Given the description of an element on the screen output the (x, y) to click on. 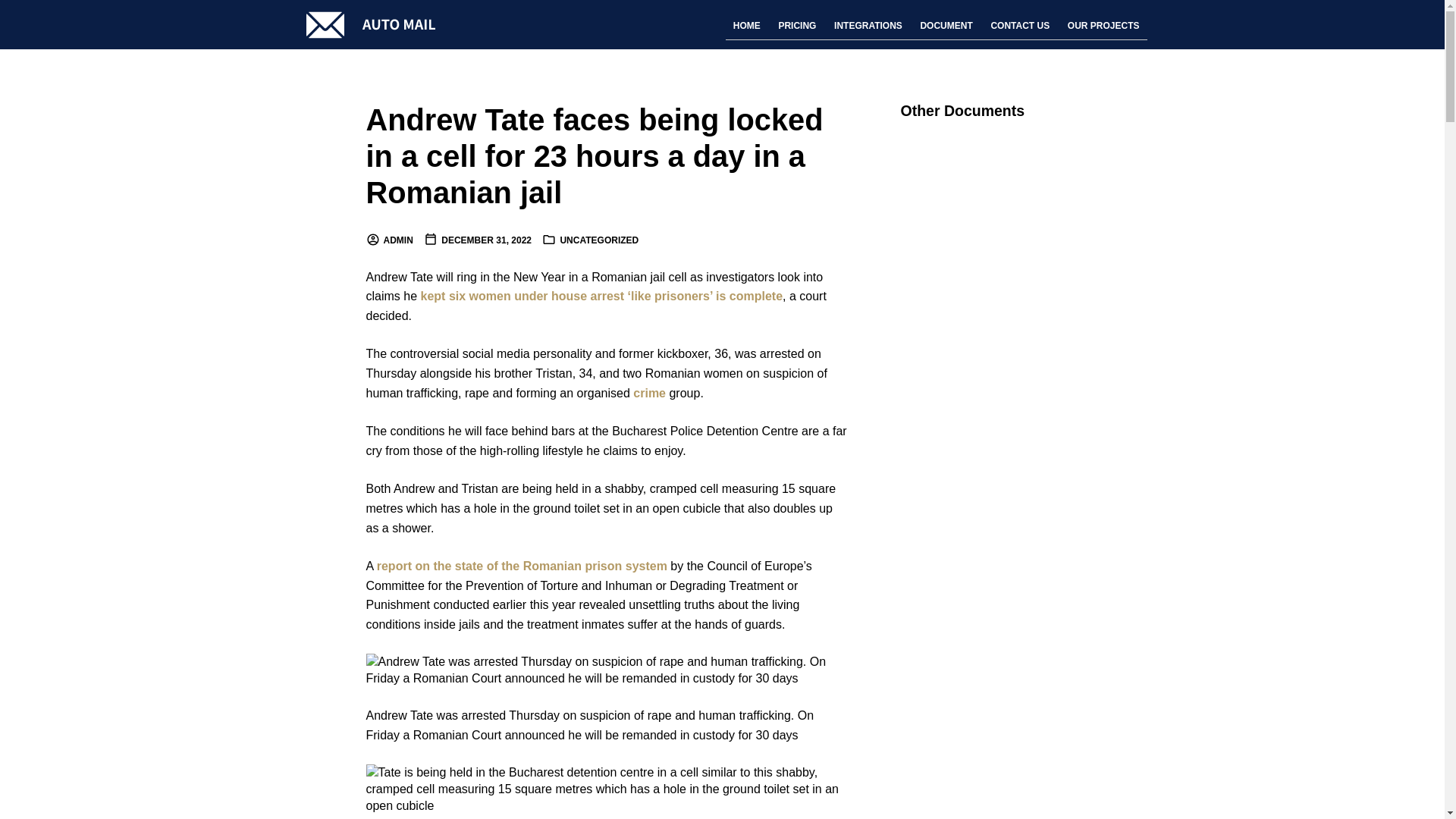
INTEGRATIONS (868, 26)
HOME (746, 26)
CONTACT US (1019, 26)
DECEMBER 31, 2022 (477, 240)
crime (649, 392)
View all posts by admin (388, 240)
report on the state of the Romanian prison system (521, 565)
DOCUMENT (945, 26)
UNCATEGORIZED (599, 240)
ADMIN (388, 240)
PRICING (797, 26)
OUR PROJECTS (1103, 26)
7:17 pm (477, 240)
